Given the description of an element on the screen output the (x, y) to click on. 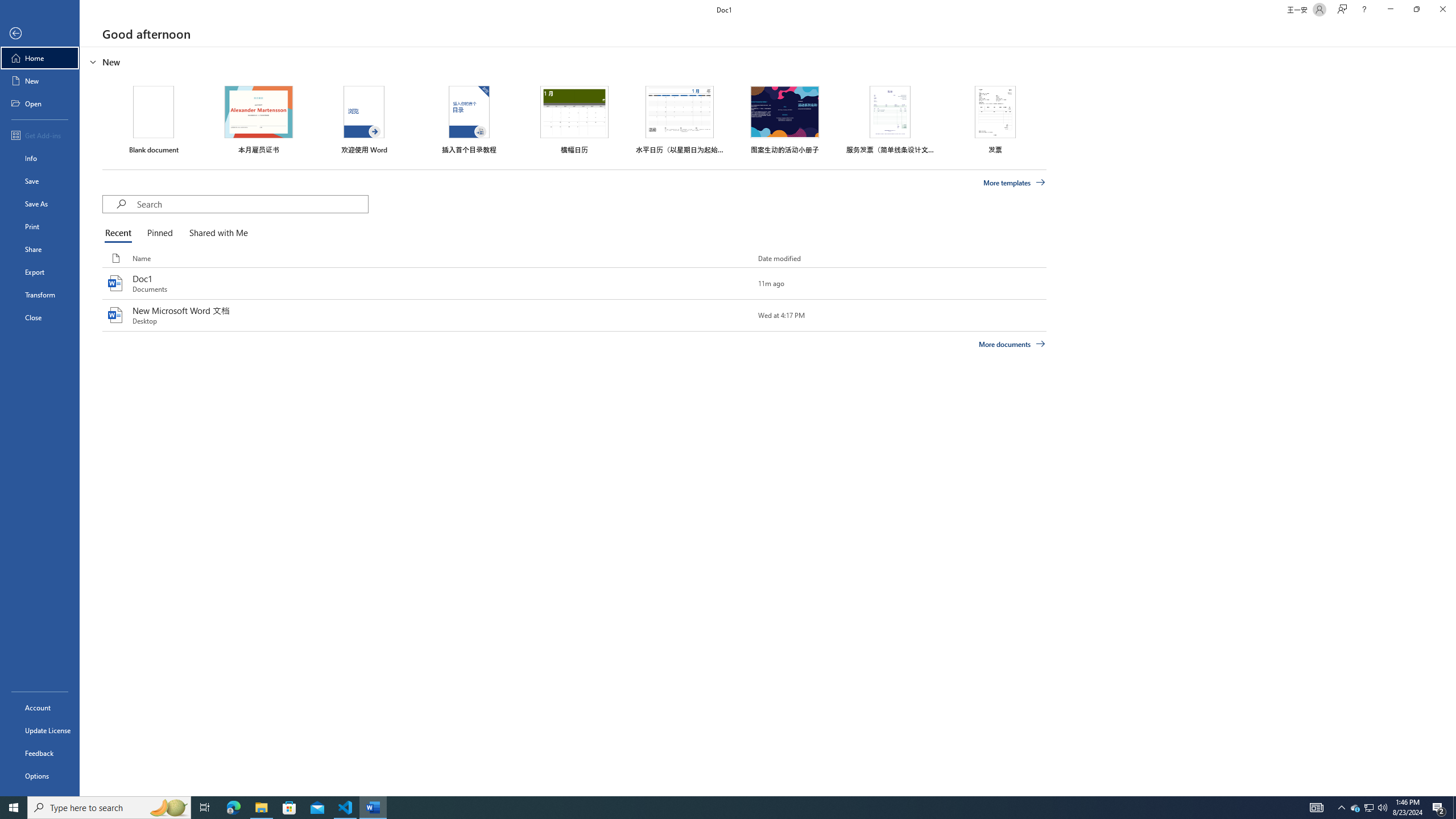
Open (40, 102)
Blank document (153, 119)
More templates (1014, 182)
Print (40, 225)
Back (40, 33)
More documents (1011, 343)
Shared with Me (215, 233)
Options (40, 775)
